Given the description of an element on the screen output the (x, y) to click on. 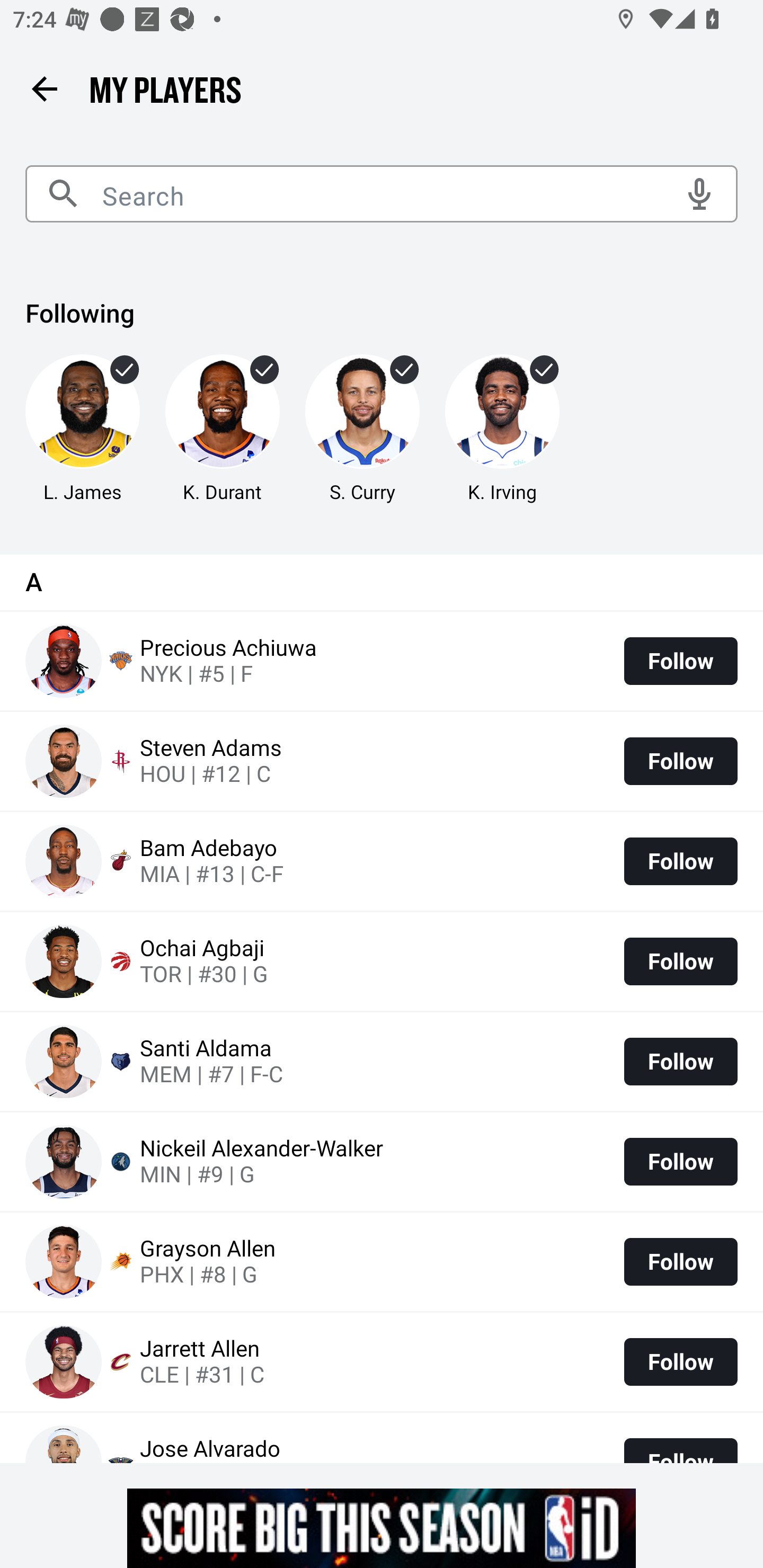
Back button (44, 88)
Search (381, 193)
Follow (680, 660)
Follow (680, 760)
Follow (680, 861)
Follow (680, 961)
Follow (680, 1061)
Follow (680, 1161)
Follow (680, 1261)
Follow (680, 1361)
g5nqqygr7owph (381, 1528)
